Given the description of an element on the screen output the (x, y) to click on. 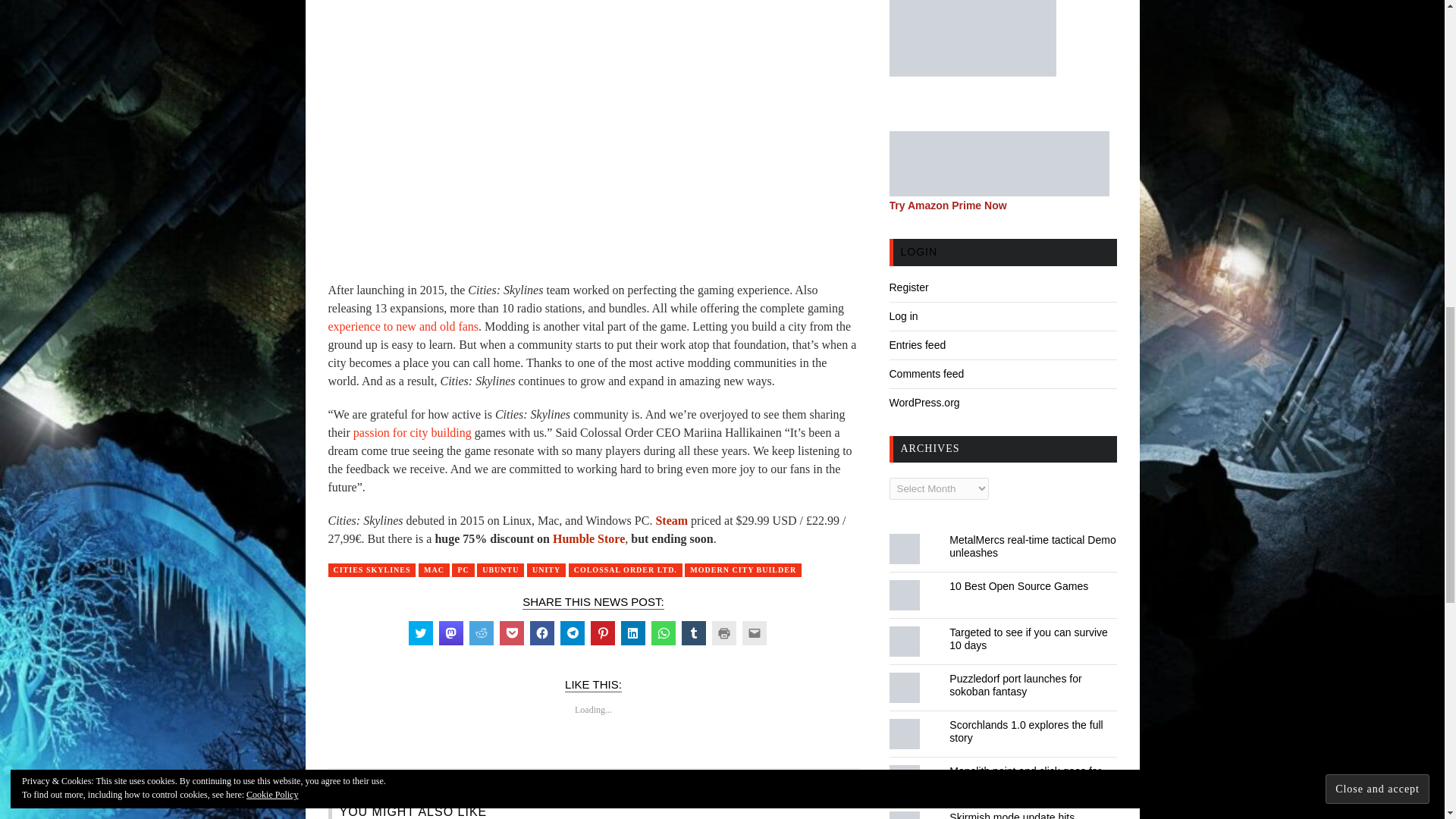
Click to share on Mastodon (450, 632)
Click to share on Pinterest (601, 632)
Click to share on WhatsApp (662, 632)
Click to share on Facebook (541, 632)
Click to email a link to a friend (753, 632)
MODERN CITY BUILDER (743, 570)
Click to share on Reddit (480, 632)
UNITY (546, 570)
CITIES SKYLINES (370, 570)
Click to share on Telegram (571, 632)
UBUNTU (500, 570)
Click to share on LinkedIn (632, 632)
passion for city building (412, 431)
experience to new and old fans (403, 326)
COLOSSAL ORDER LTD. (625, 570)
